Given the description of an element on the screen output the (x, y) to click on. 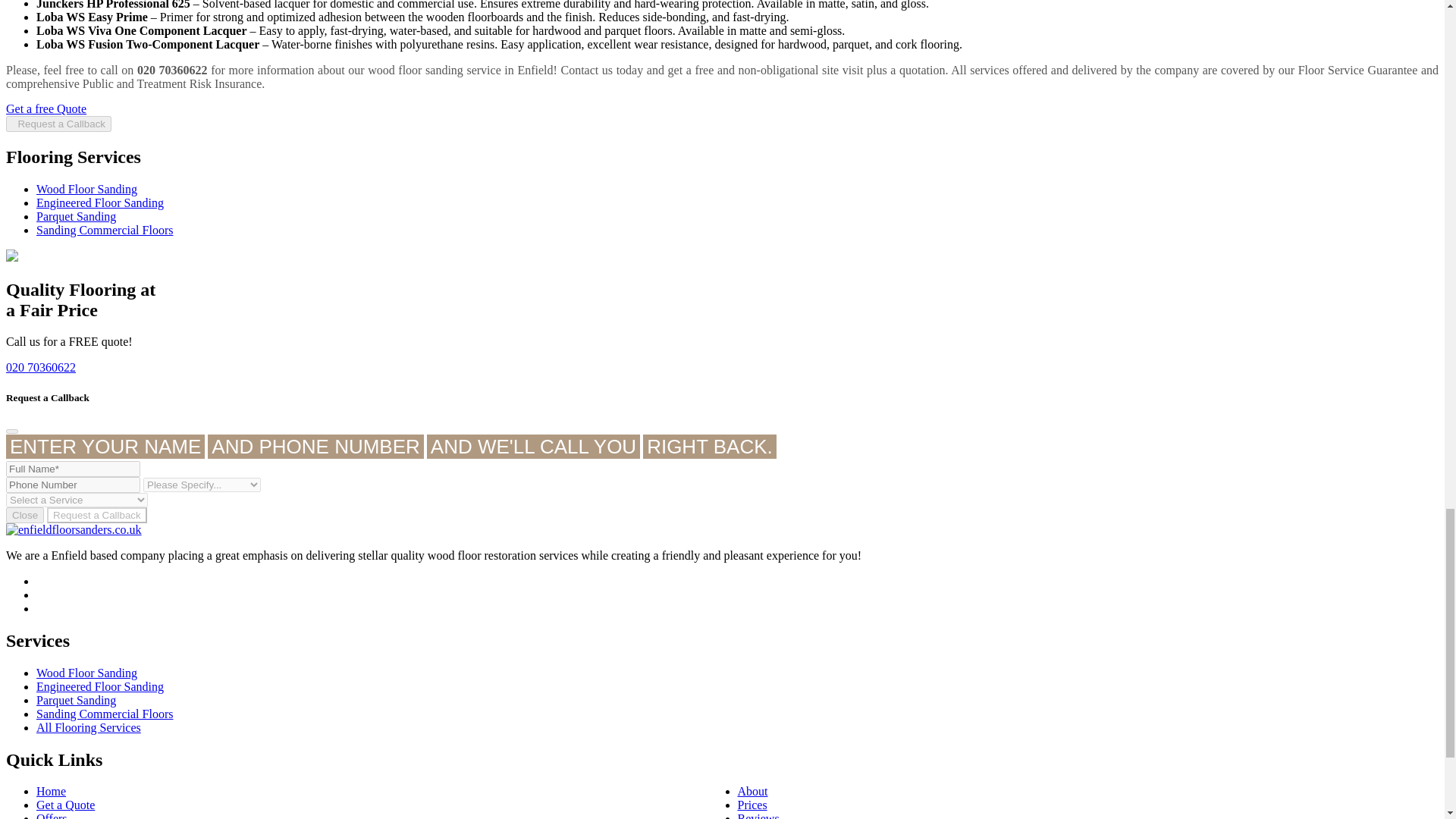
Sanding Commercial Floors (104, 229)
Request a Callback (96, 514)
Parquet Sanding (76, 215)
020 70360622 (40, 367)
Engineered Floor Sanding (99, 202)
Close (24, 514)
Get a free Quote (45, 108)
  Request a Callback (58, 123)
Wood Floor Sanding (86, 188)
